Given the description of an element on the screen output the (x, y) to click on. 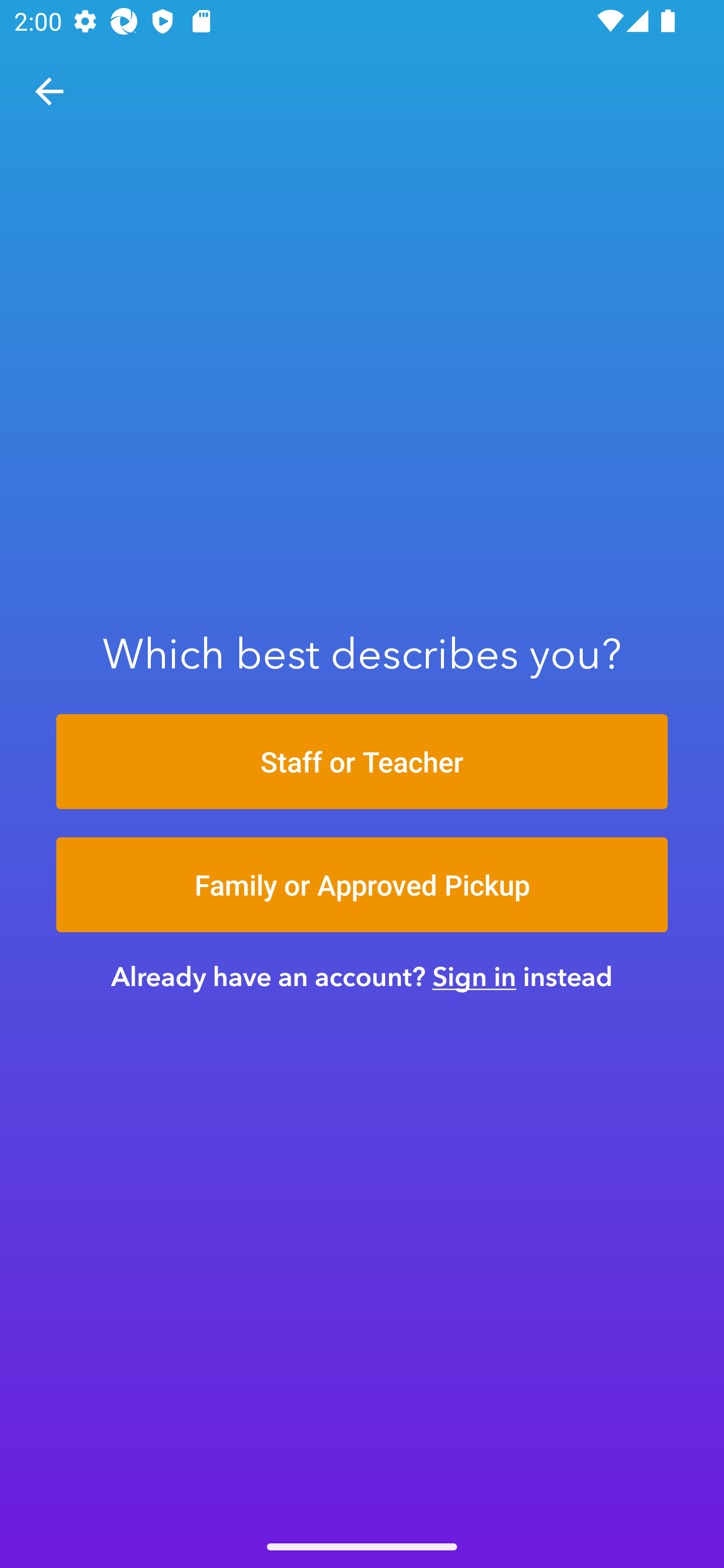
Navigate up (49, 91)
Staff or Teacher (361, 761)
Family or Approved Pickup (361, 884)
Already have an account? Sign in instead (361, 975)
